Given the description of an element on the screen output the (x, y) to click on. 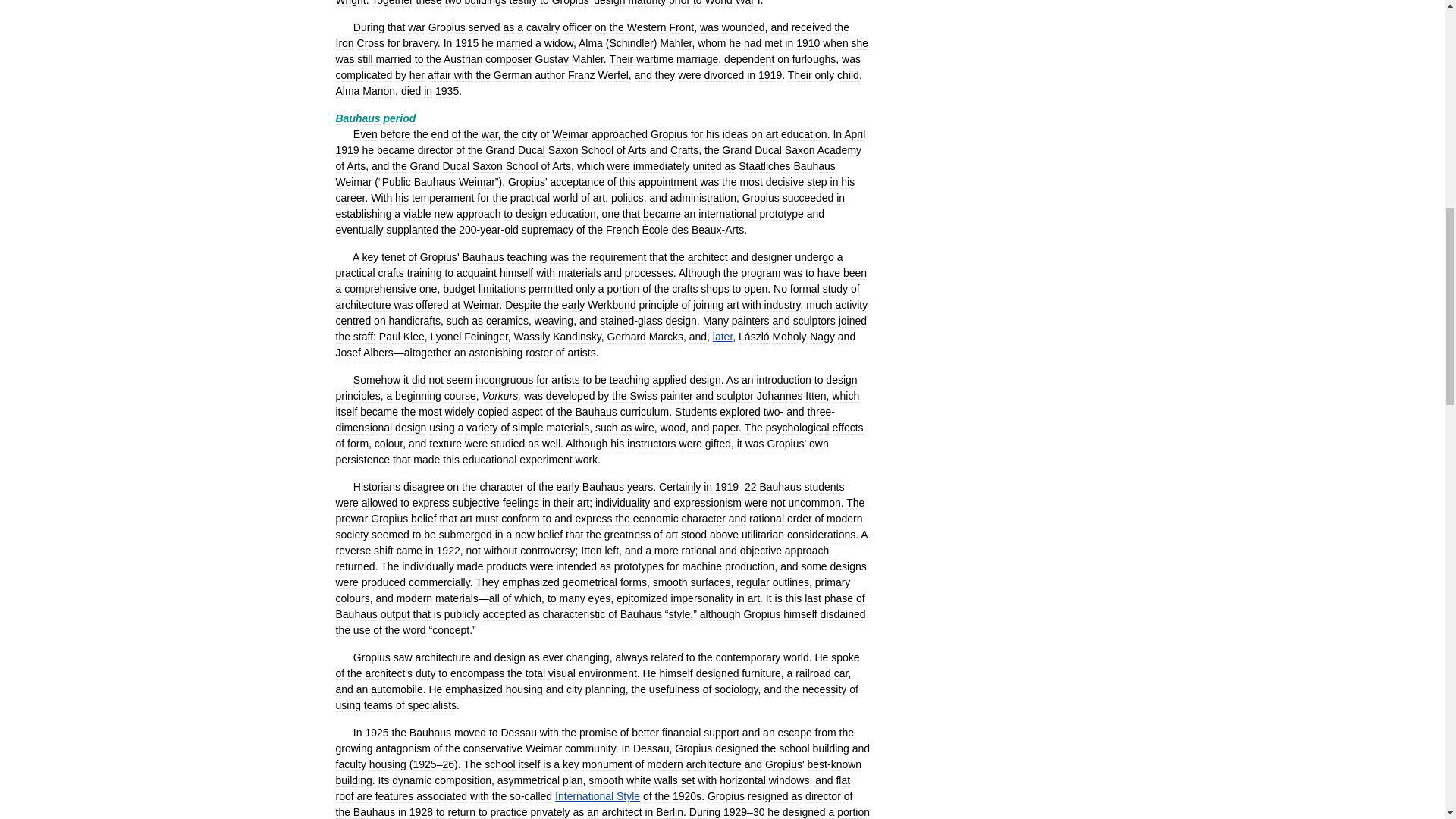
later (722, 336)
International Style (597, 796)
